Given the description of an element on the screen output the (x, y) to click on. 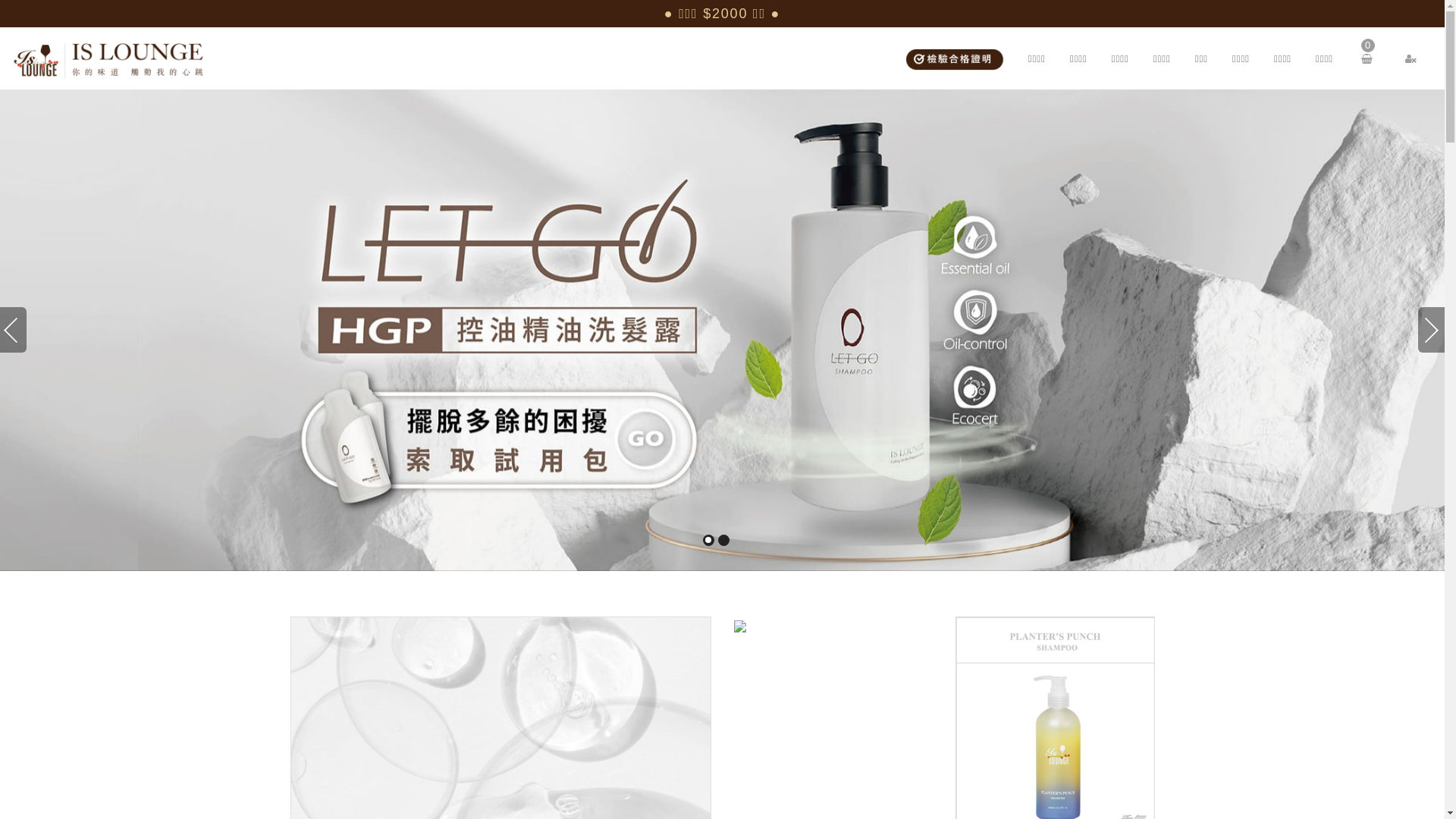
0 Element type: text (1369, 58)
